Given the description of an element on the screen output the (x, y) to click on. 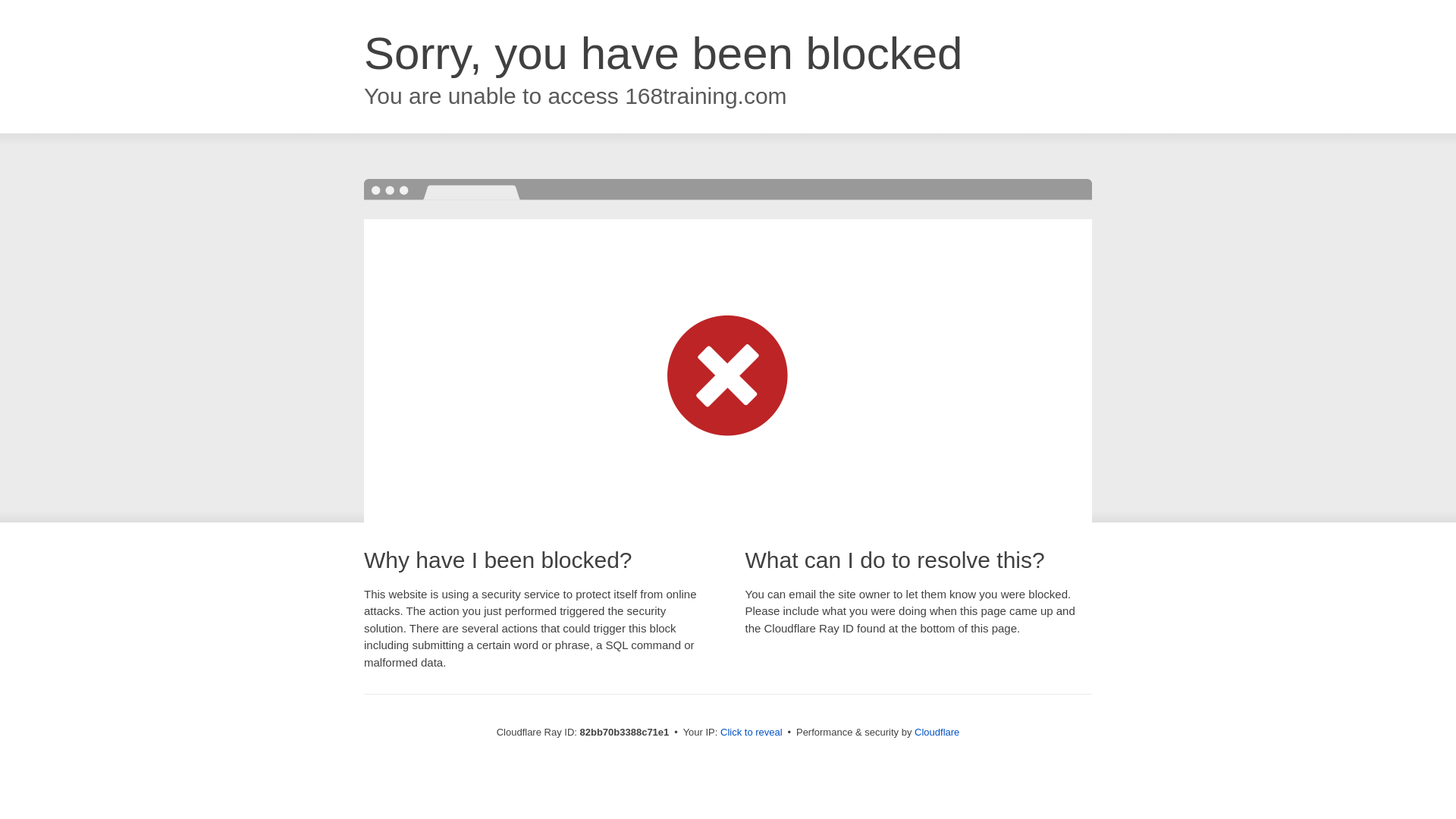
Click to reveal Element type: text (751, 732)
Cloudflare Element type: text (936, 731)
